Given the description of an element on the screen output the (x, y) to click on. 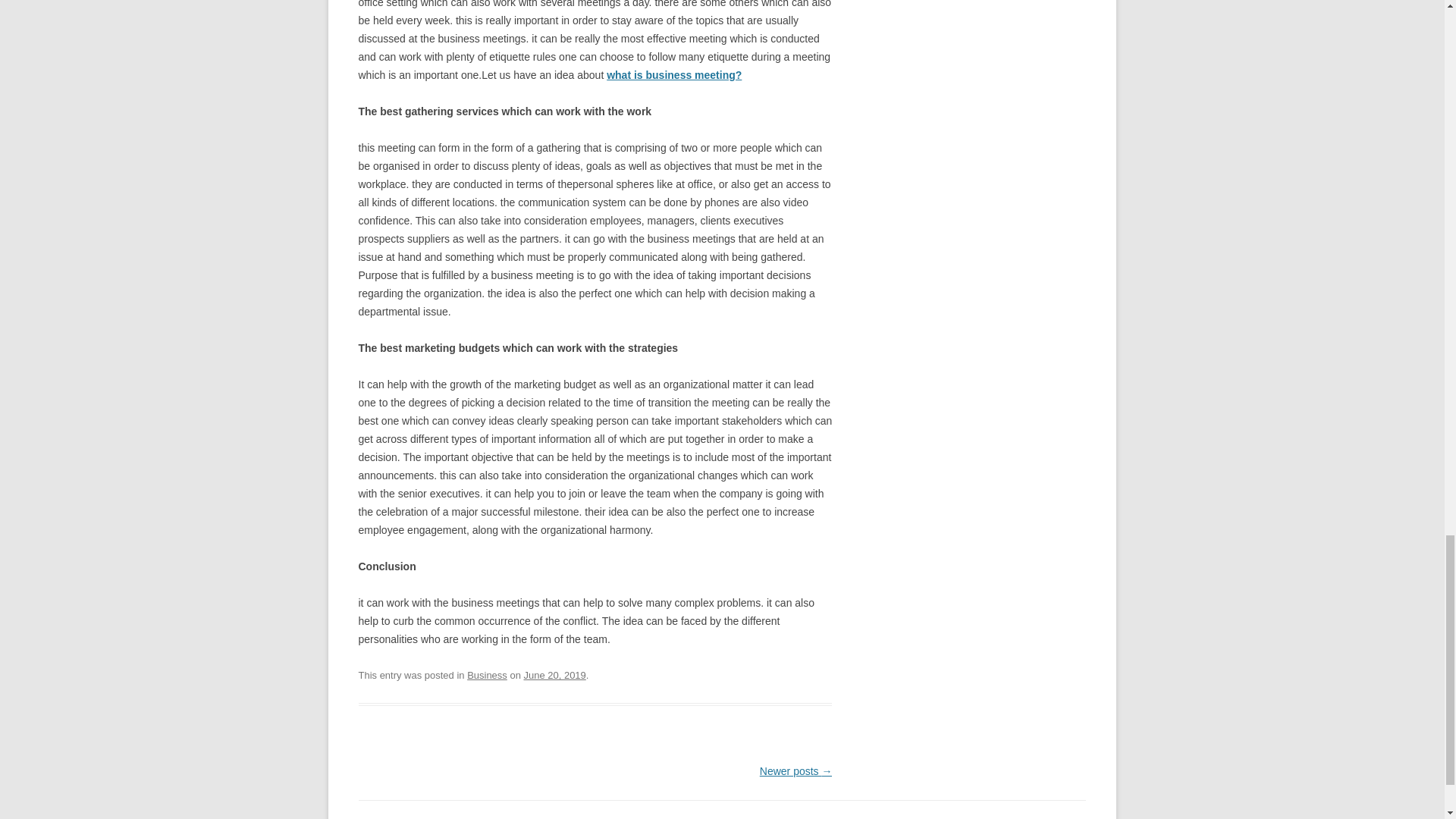
12:07 pm (553, 674)
what is business meeting? (674, 74)
Business (486, 674)
June 20, 2019 (553, 674)
